Given the description of an element on the screen output the (x, y) to click on. 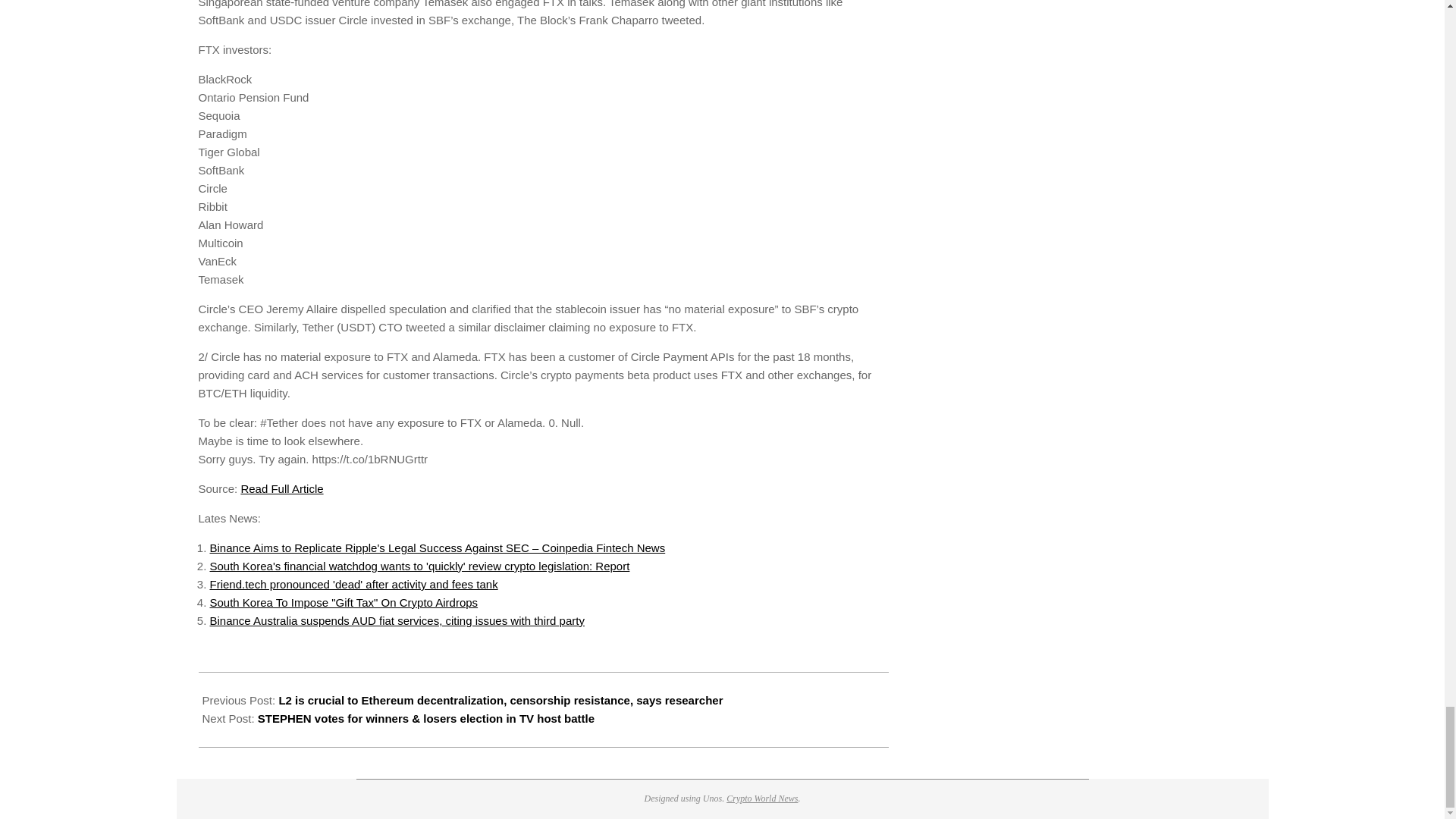
South Korea To Impose "Gift Tax" On Crypto Airdrops (343, 602)
Friend.tech pronounced 'dead' after activity and fees tank (353, 584)
South Korea To Impose "Gift Tax" On Crypto Airdrops (343, 602)
Read Full Article (281, 488)
Friend.tech pronounced 'dead' after activity and fees tank (353, 584)
Crypto World News (761, 798)
